Given the description of an element on the screen output the (x, y) to click on. 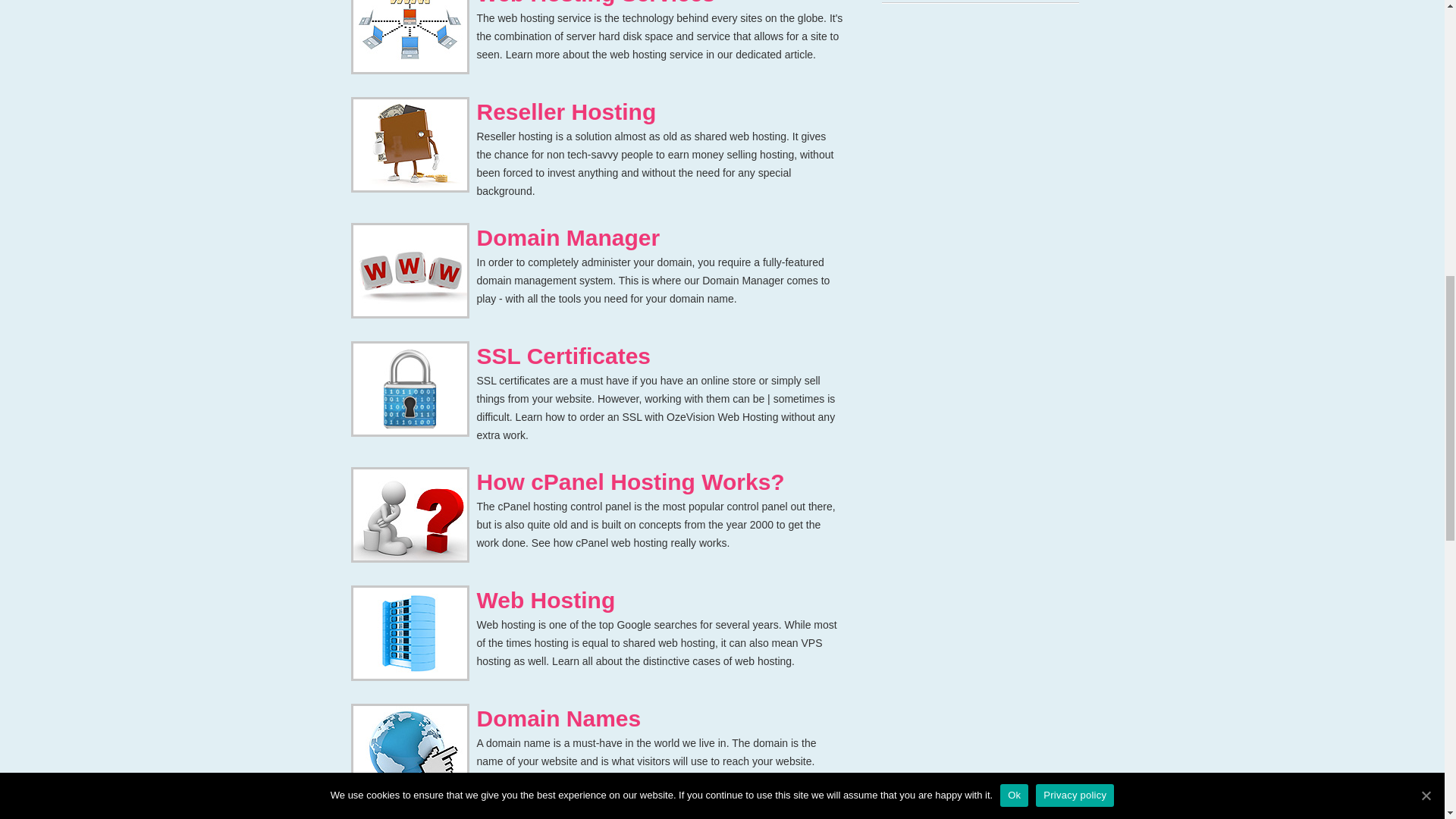
Web Hosting Services (595, 2)
